Given the description of an element on the screen output the (x, y) to click on. 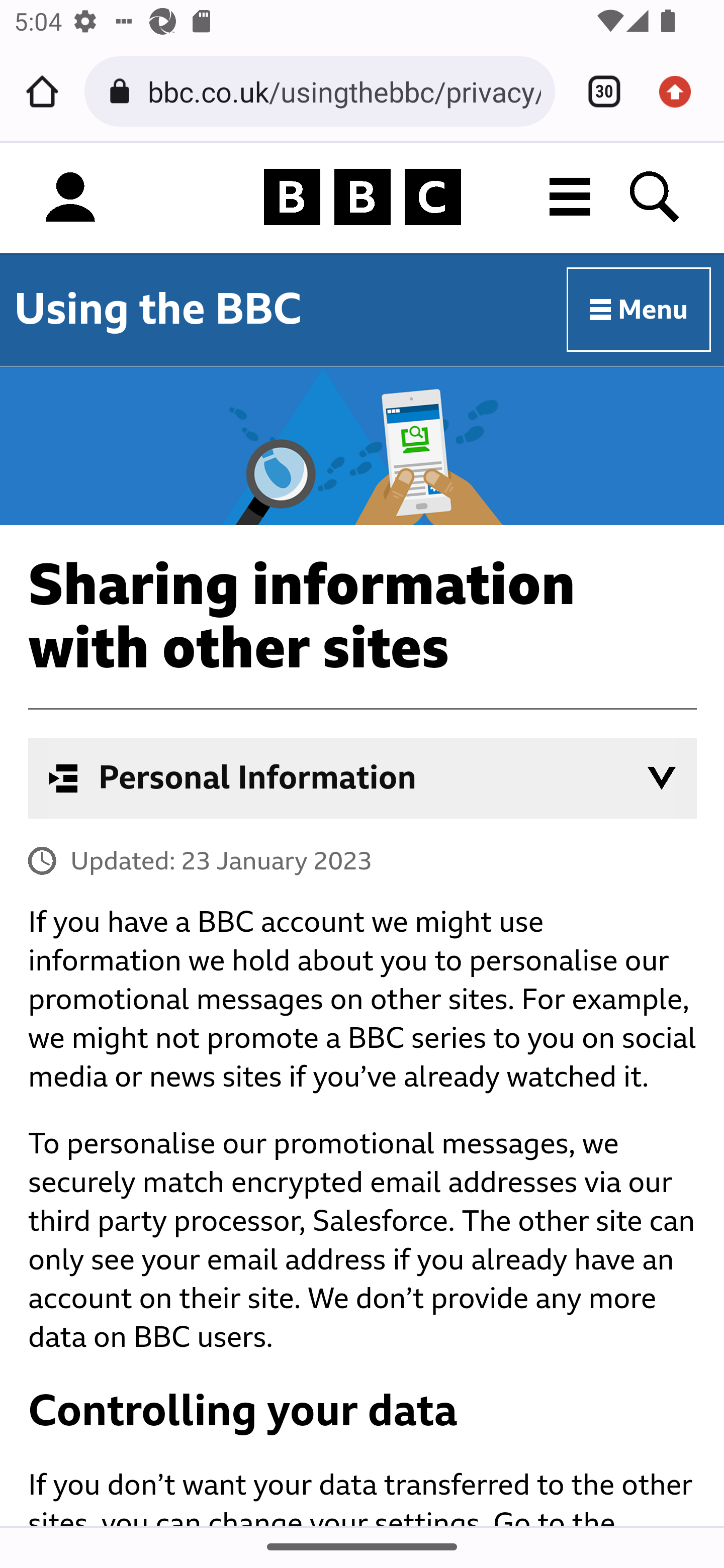
Home (42, 91)
Connection is secure (122, 91)
Switch or close tabs (597, 91)
Update available. More options (681, 91)
All BBC destinations menu (570, 197)
Search BBC (655, 197)
Sign in (70, 198)
Homepage (361, 198)
Menu (639, 310)
Using the BBC (157, 308)
Personal Information (362, 778)
